Given the description of an element on the screen output the (x, y) to click on. 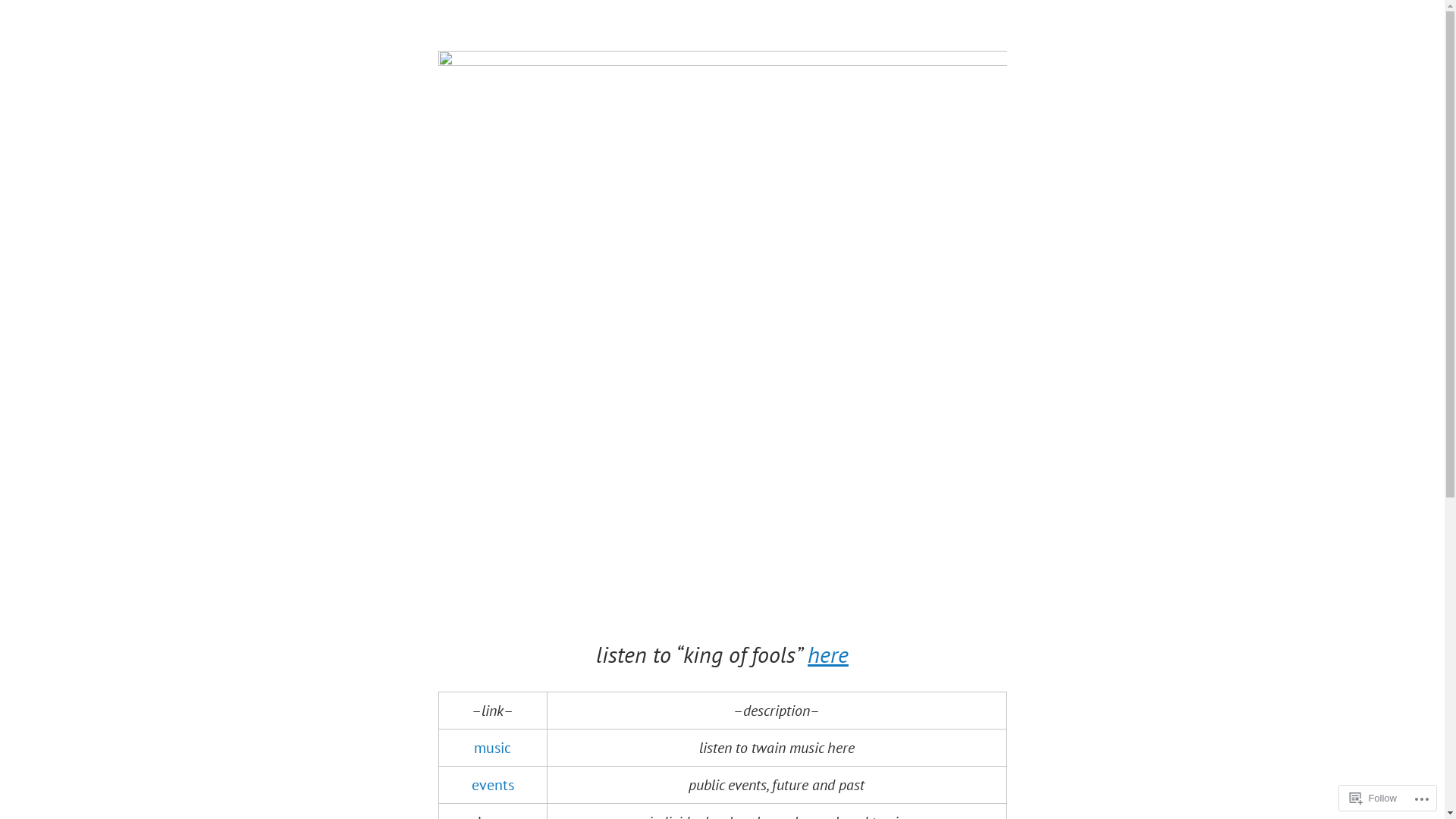
Follow Element type: text (1372, 797)
music Element type: text (492, 747)
events Element type: text (492, 784)
here Element type: text (827, 653)
